Given the description of an element on the screen output the (x, y) to click on. 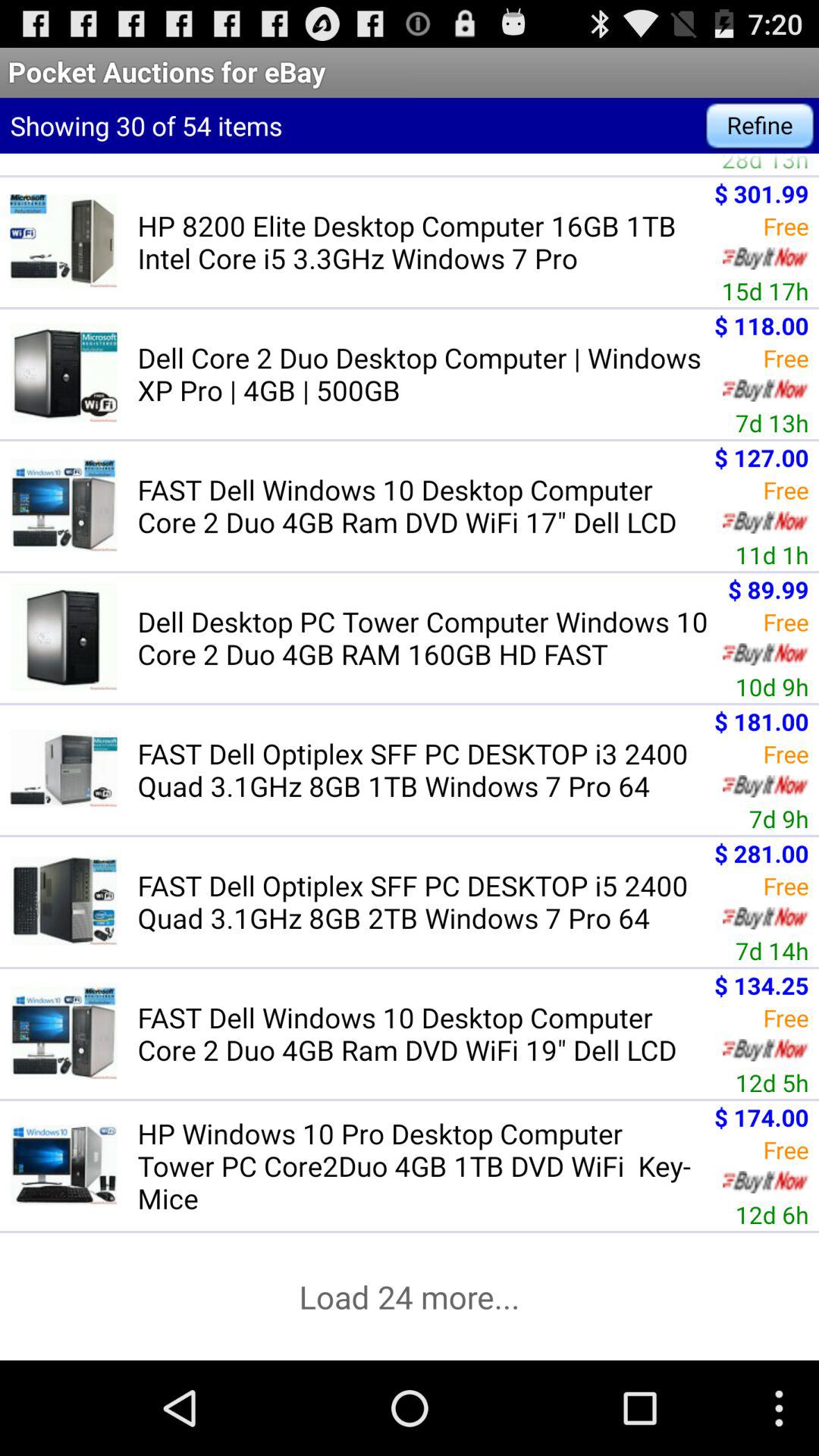
select the icon above the hp elite 8200 (759, 125)
